Given the description of an element on the screen output the (x, y) to click on. 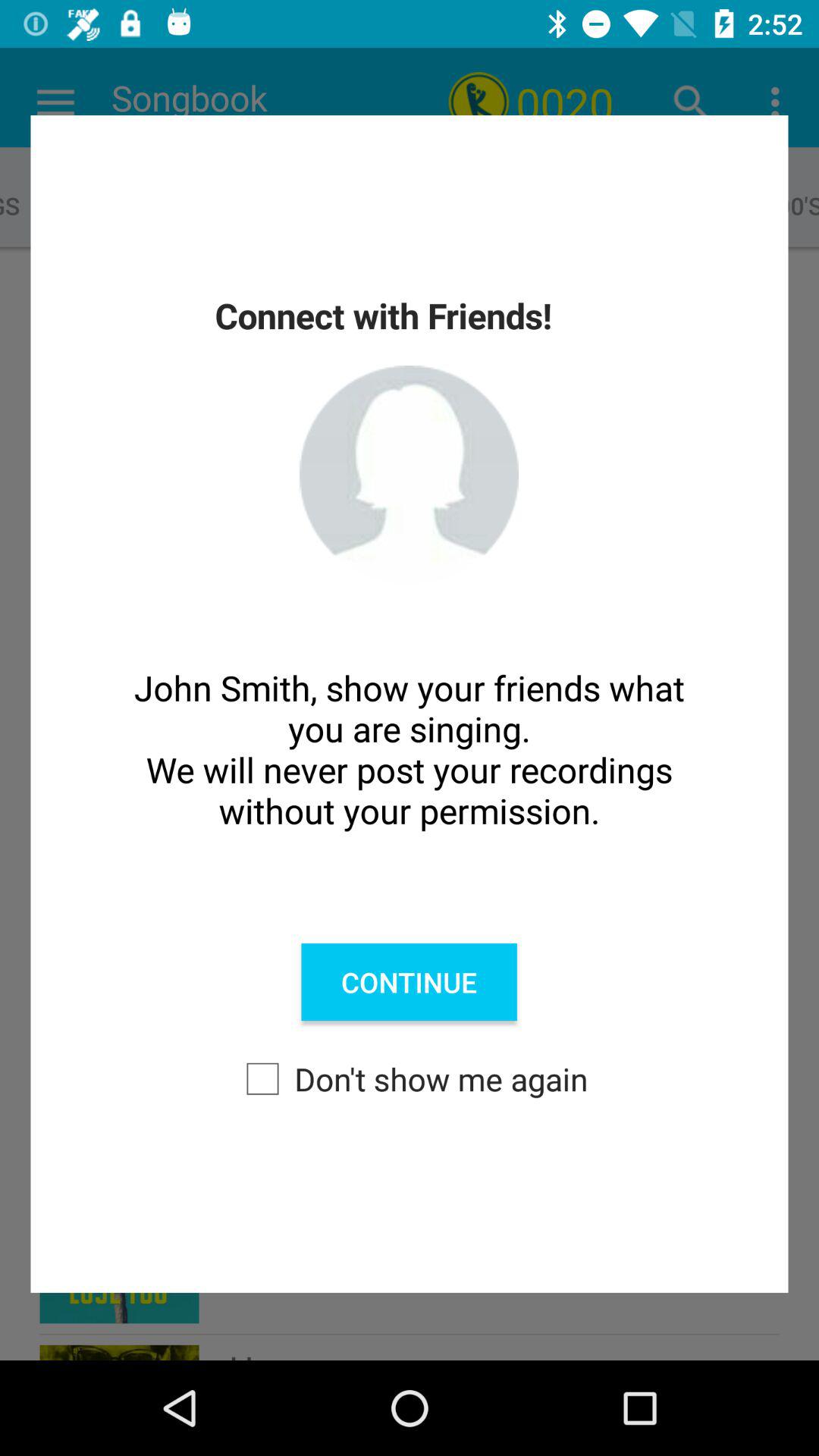
swipe to the don t show item (409, 1078)
